Given the description of an element on the screen output the (x, y) to click on. 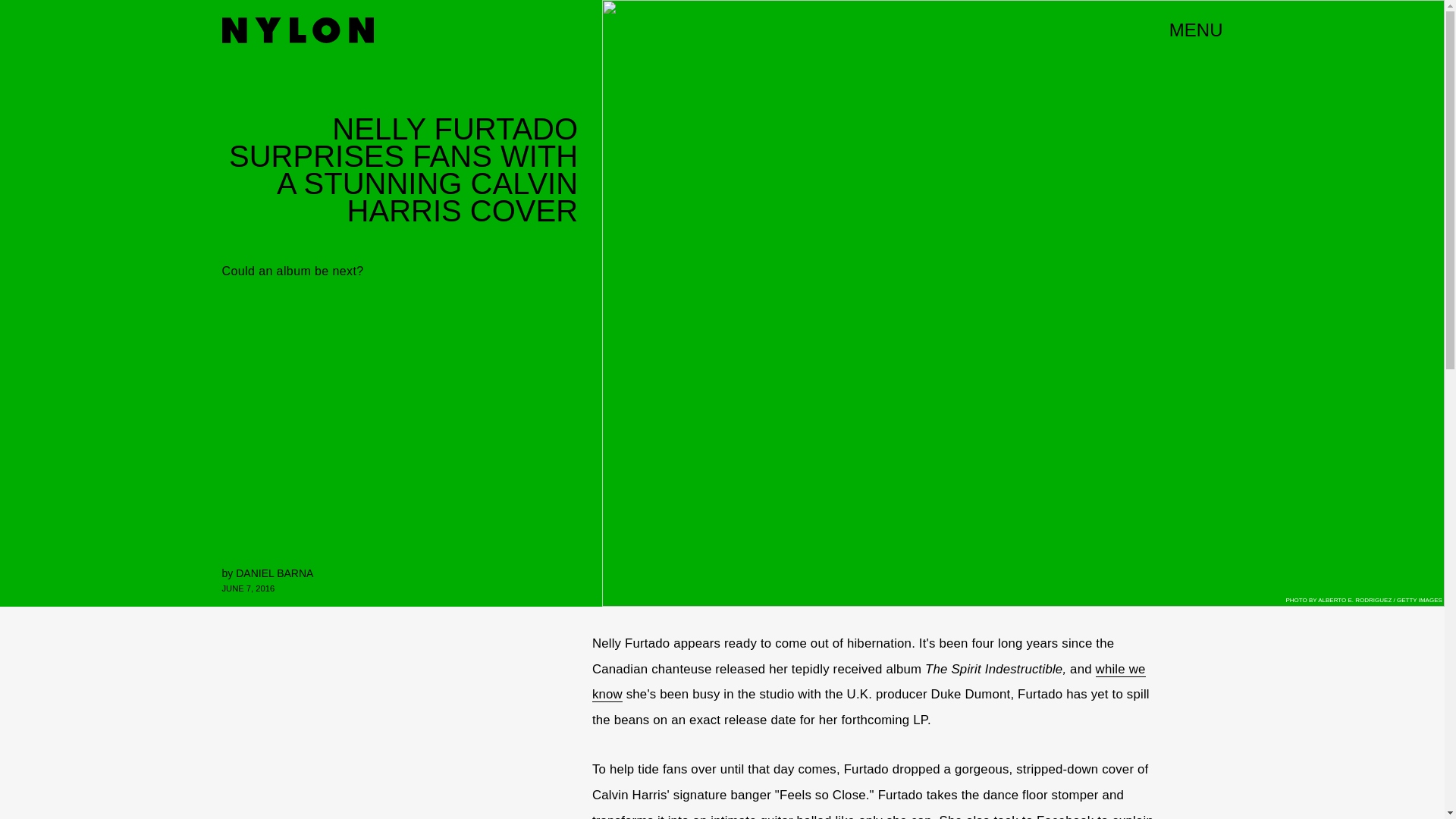
Nylon (296, 30)
took to Facebook (1042, 816)
while we know (868, 681)
